Given the description of an element on the screen output the (x, y) to click on. 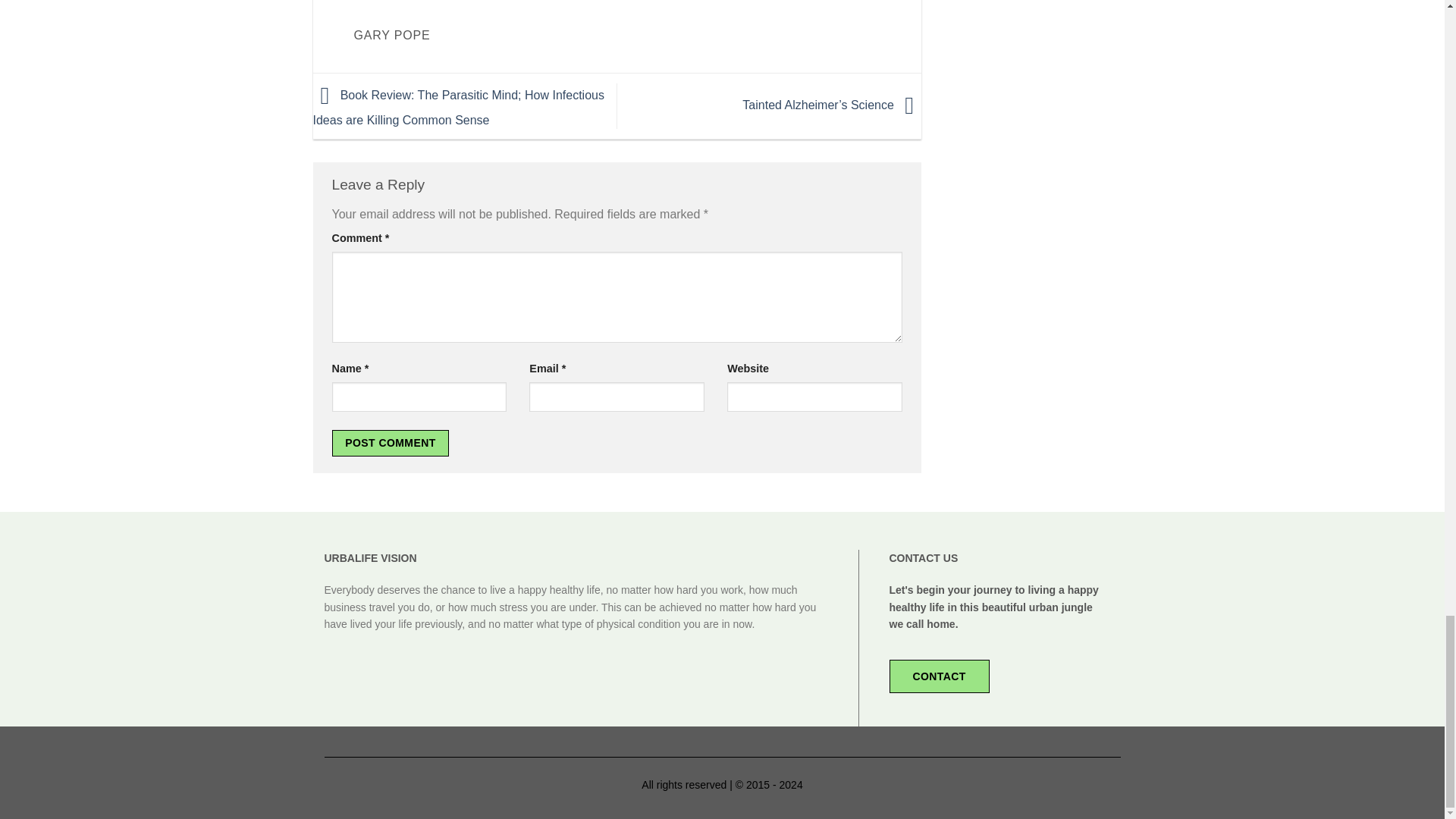
Post Comment (390, 443)
